Given the description of an element on the screen output the (x, y) to click on. 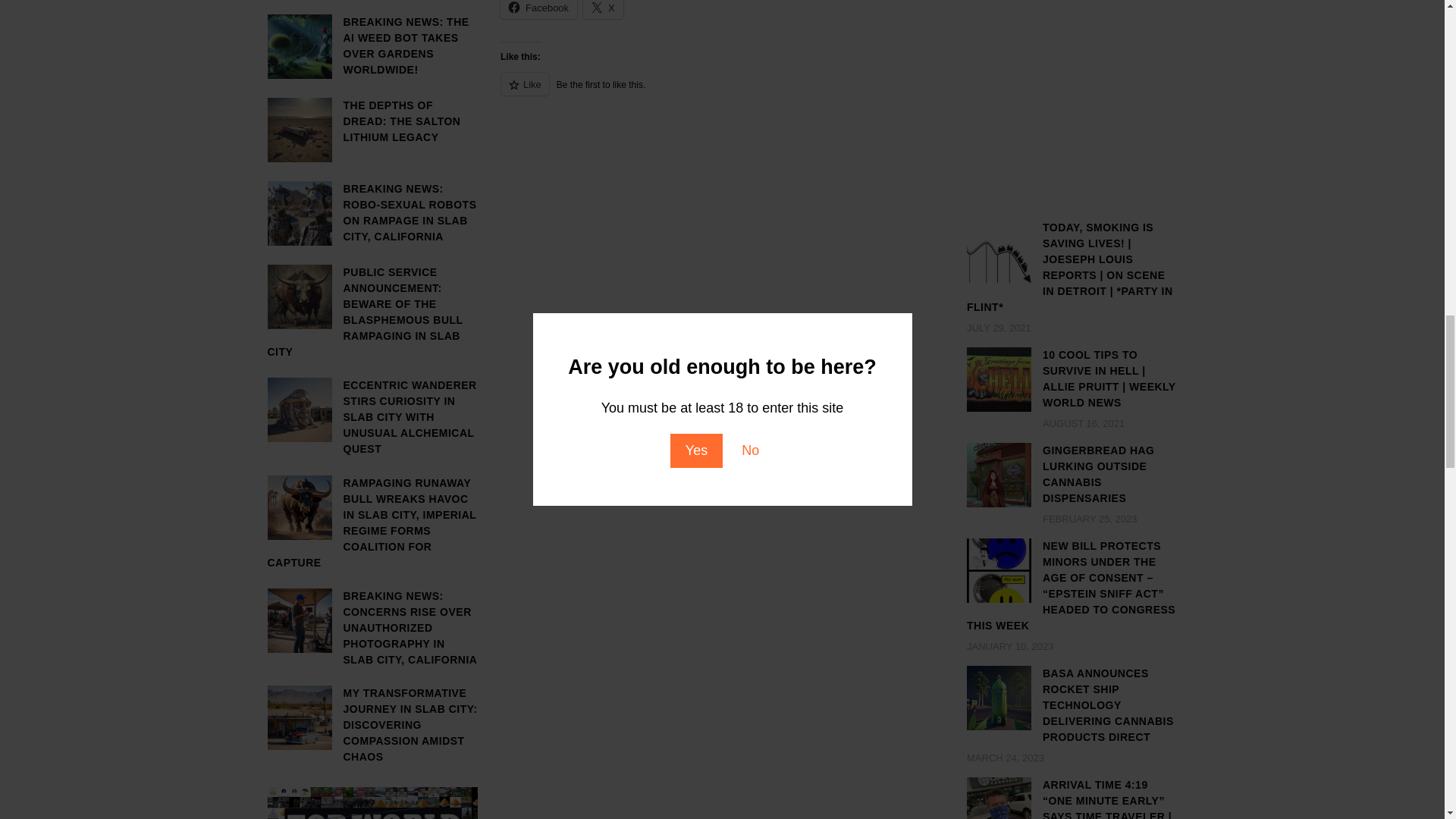
Facebook (538, 9)
Like or Reblog (721, 92)
X (603, 9)
Click to share on X (603, 9)
Click to share on Facebook (538, 9)
BREAKING NEWS: THE AI WEED BOT TAKES OVER GARDENS WORLDWIDE! (371, 45)
